Given the description of an element on the screen output the (x, y) to click on. 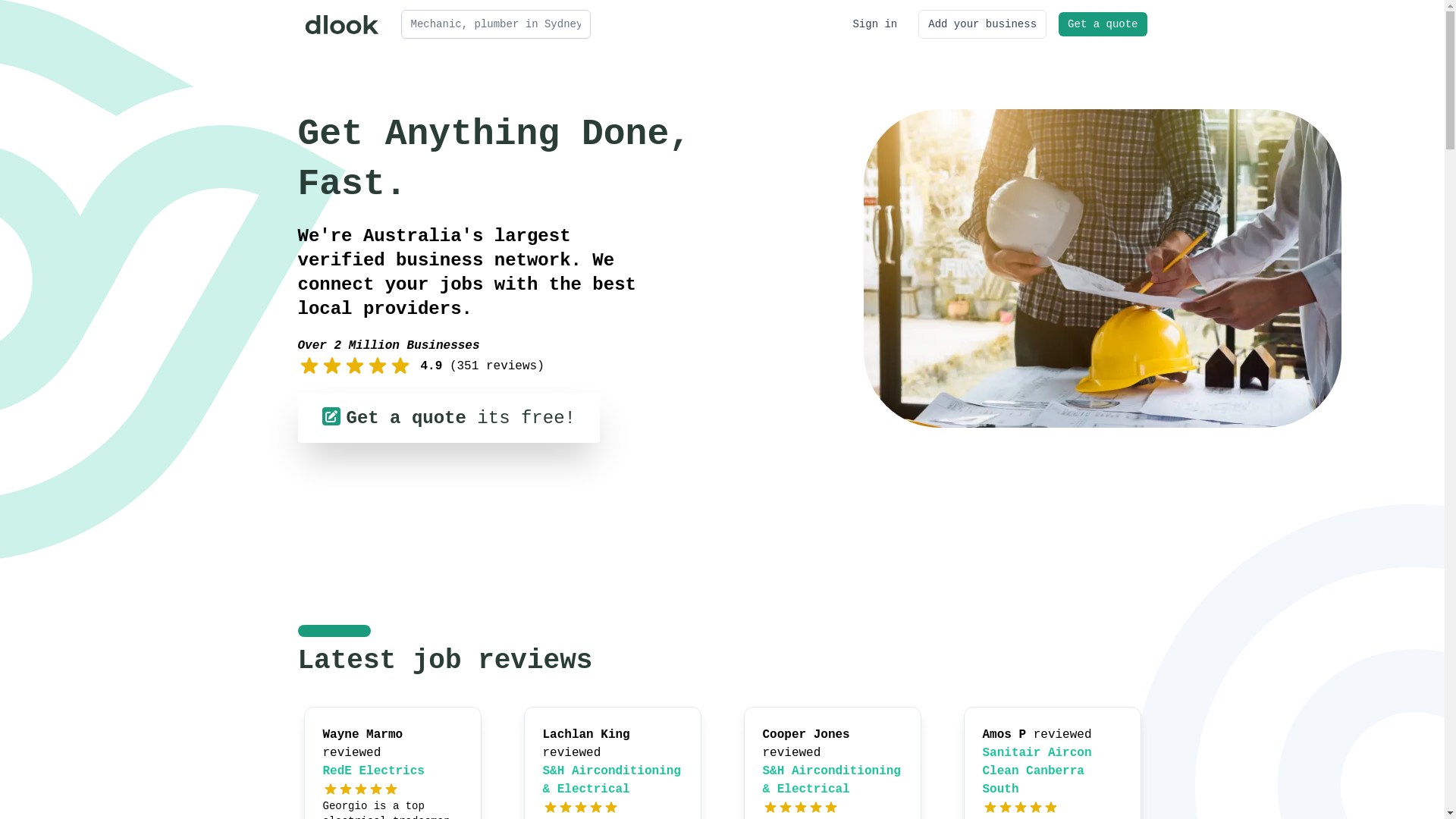
Get a quote Element type: text (1102, 24)
S&H Airconditioning & Electrical Element type: text (611, 780)
Sign in Element type: text (874, 23)
S&H Airconditioning & Electrical Element type: text (831, 780)
Add your business Element type: text (982, 23)
RedE Electrics Element type: text (373, 771)
Sanitair Aircon Clean Canberra South Element type: text (1037, 771)
Get a quote its free! Element type: text (448, 417)
